Given the description of an element on the screen output the (x, y) to click on. 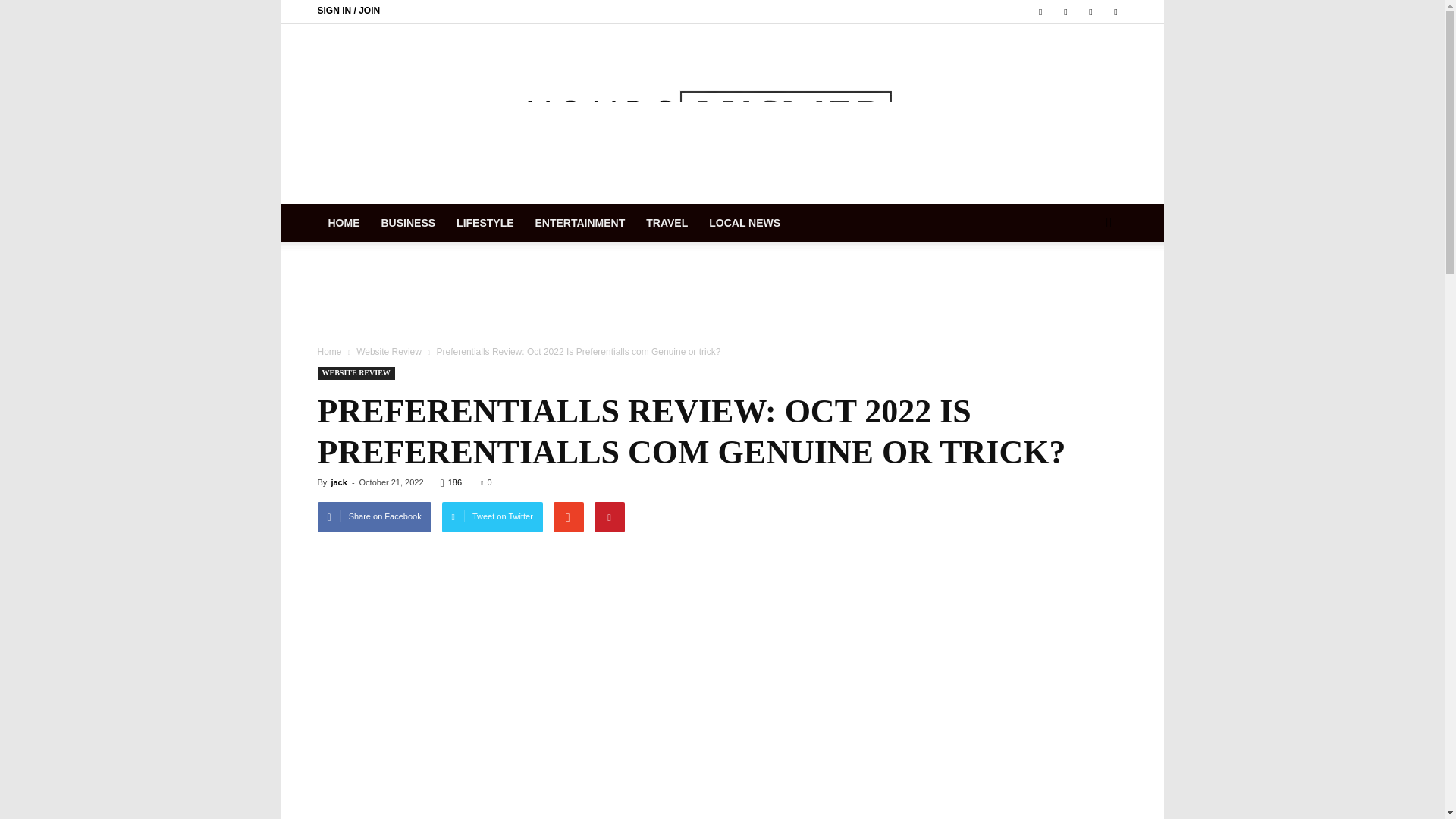
Facebook (1040, 11)
HOME (343, 222)
Youtube (1114, 11)
BUSINESS (407, 222)
VKontakte (1090, 11)
Twitter (1065, 11)
